Given the description of an element on the screen output the (x, y) to click on. 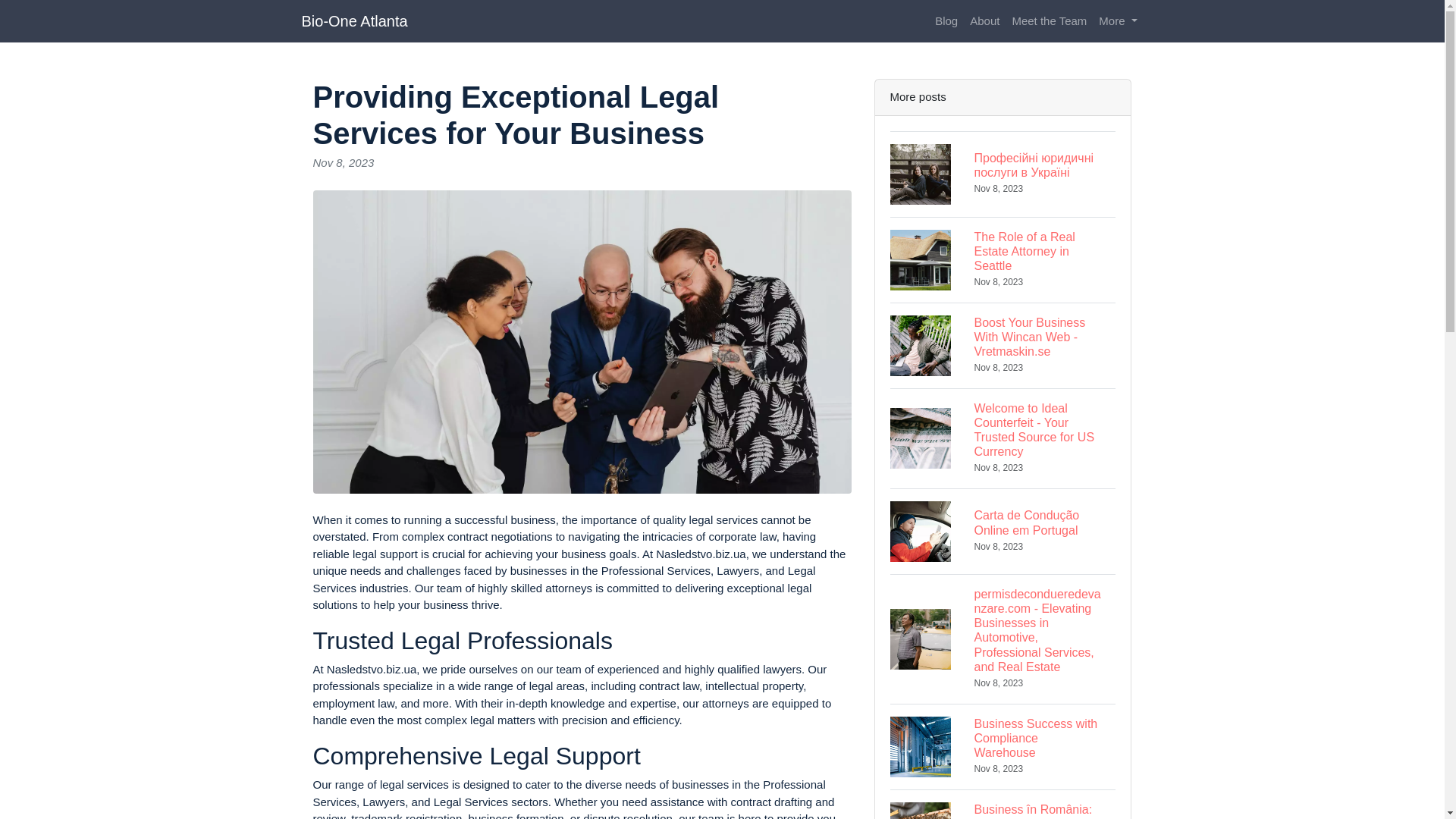
Bio-One Atlanta (354, 20)
About (1002, 746)
Meet the Team (984, 21)
More (1002, 259)
Blog (1049, 21)
